Given the description of an element on the screen output the (x, y) to click on. 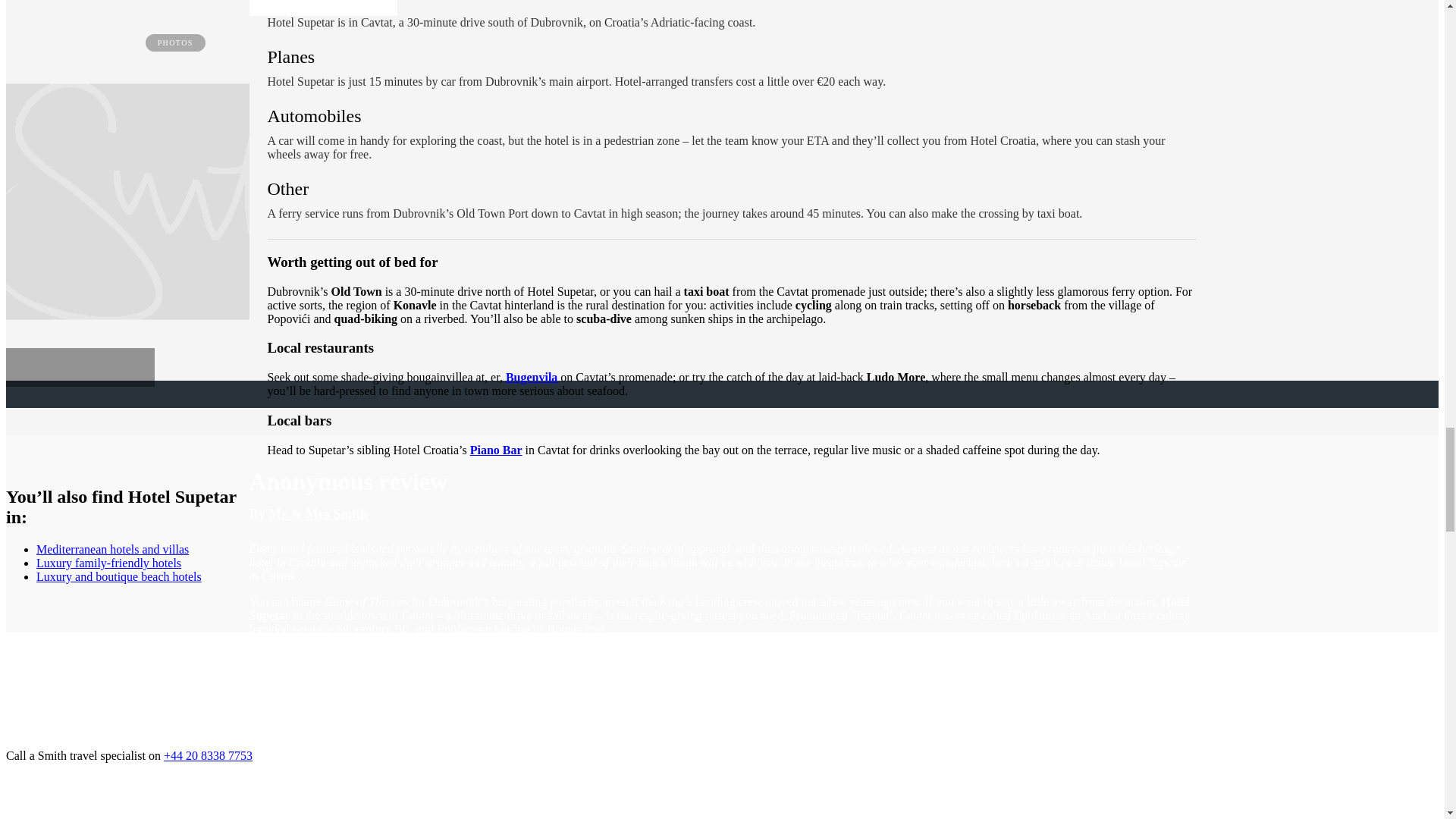
Piano Bar (496, 449)
Mediterranean hotels and villas (112, 549)
Hotel Supetar (182, 201)
Luxury family-friendly hotels (108, 562)
Luxury and boutique beach hotels (119, 576)
Bugenvila (531, 377)
